Given the description of an element on the screen output the (x, y) to click on. 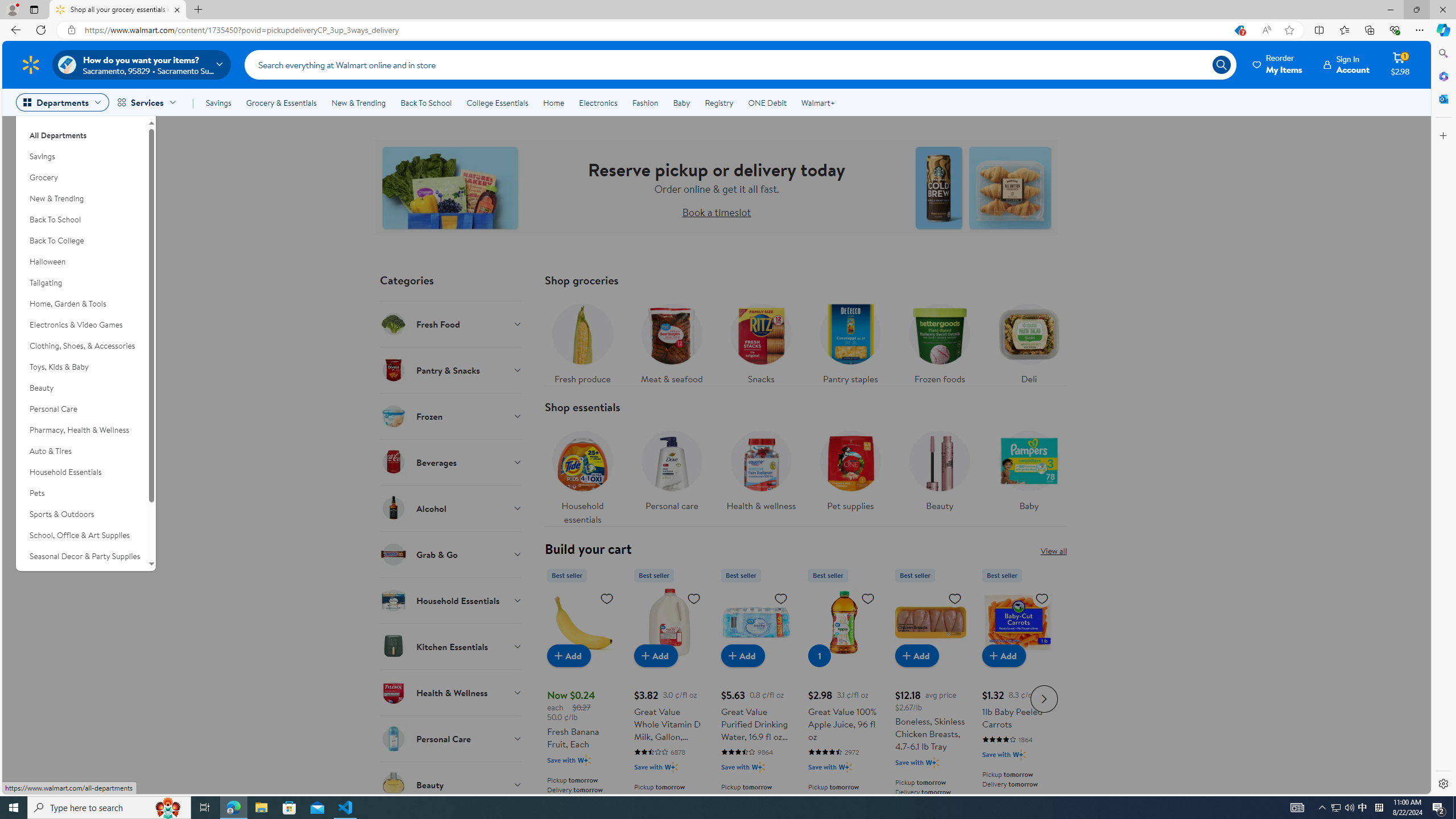
Fashion (644, 102)
Walmart+ (817, 102)
Add to cart - 1lb Baby Peeled Carrots (1004, 655)
Household Essentials (451, 600)
Home, Garden & Tools (81, 303)
Fashion (644, 102)
Meat & seafood (671, 340)
